Given the description of an element on the screen output the (x, y) to click on. 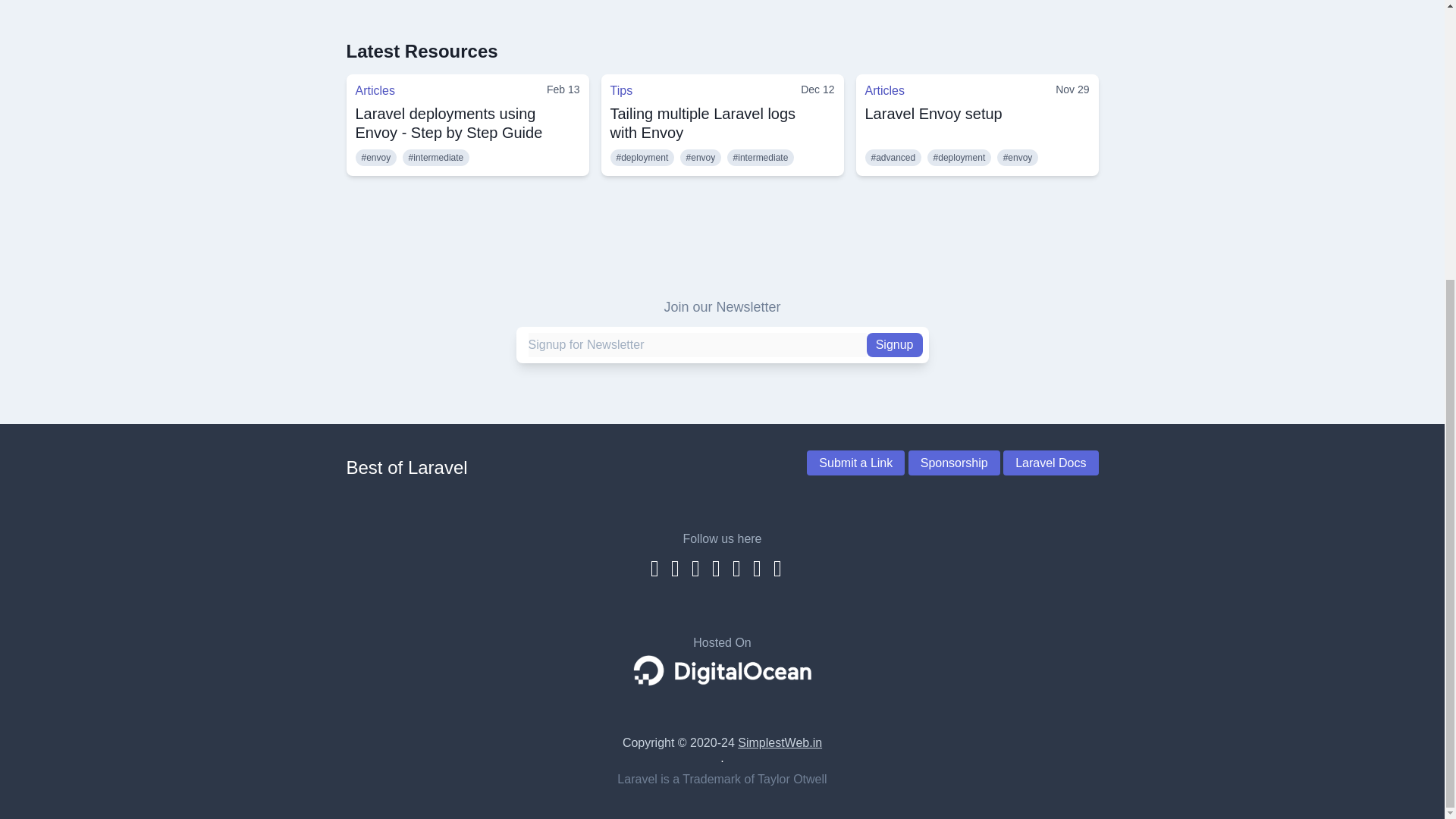
Submit a Link (855, 462)
Signup (894, 344)
Articles (884, 90)
SimplestWeb.in (780, 742)
Tailing multiple Laravel logs with Envoy (702, 122)
Sponsorship (954, 462)
Laravel Envoy setup (932, 113)
Signup (894, 344)
Laravel deployments using Envoy - Step by Step Guide (448, 122)
Tips (620, 90)
Laravel Docs (1050, 462)
Articles (374, 90)
